Given the description of an element on the screen output the (x, y) to click on. 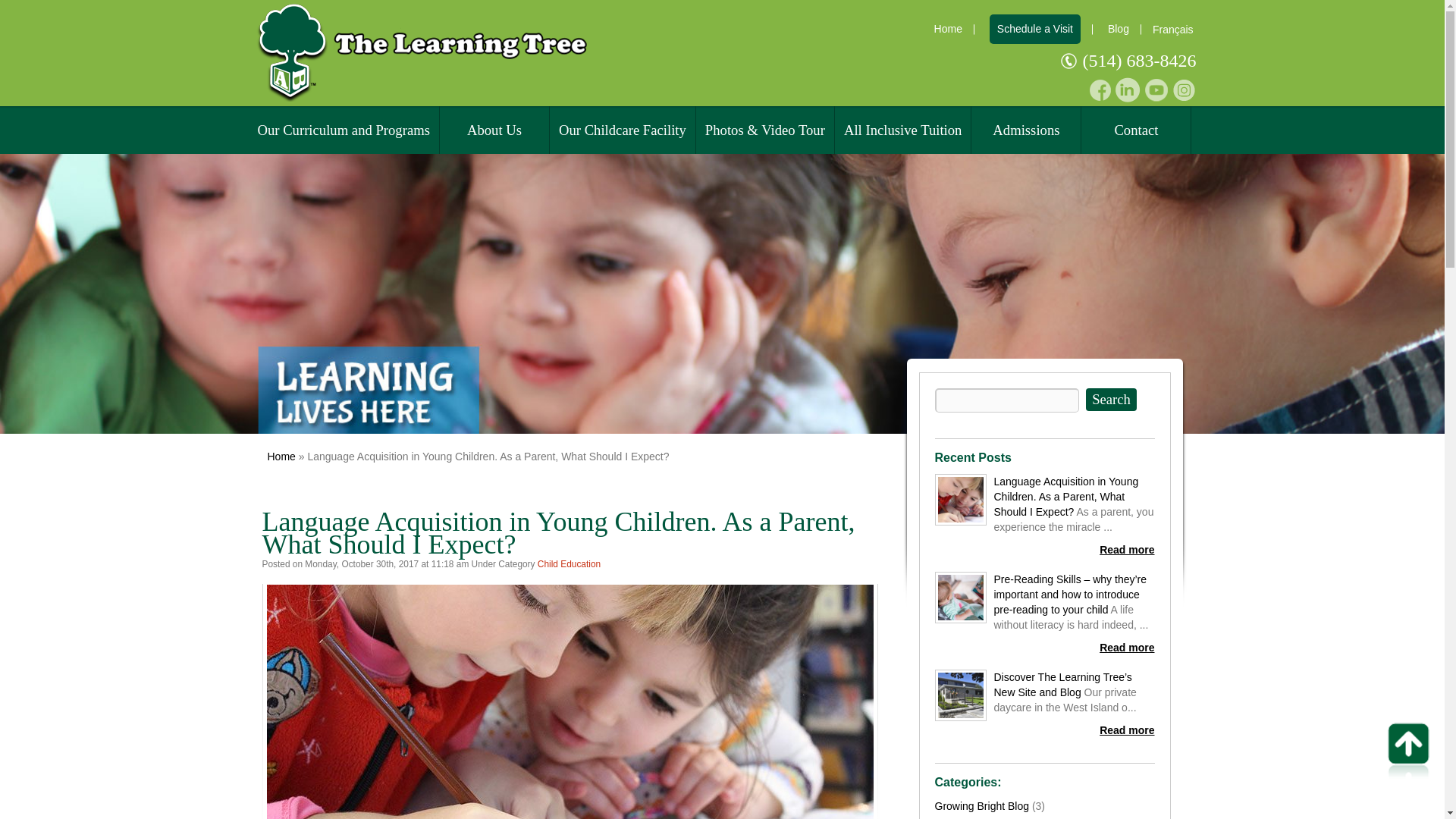
Home (948, 29)
Schedule a Visit (1035, 29)
Our Curriculum and Programs (343, 129)
Our Childcare Facility (622, 129)
Search (1111, 399)
Contact (1136, 129)
Search (1111, 399)
All Inclusive Tuition (902, 129)
About Us (493, 129)
Blog (1118, 29)
Home (280, 456)
Admissions (1025, 129)
Child Education (568, 563)
